Given the description of an element on the screen output the (x, y) to click on. 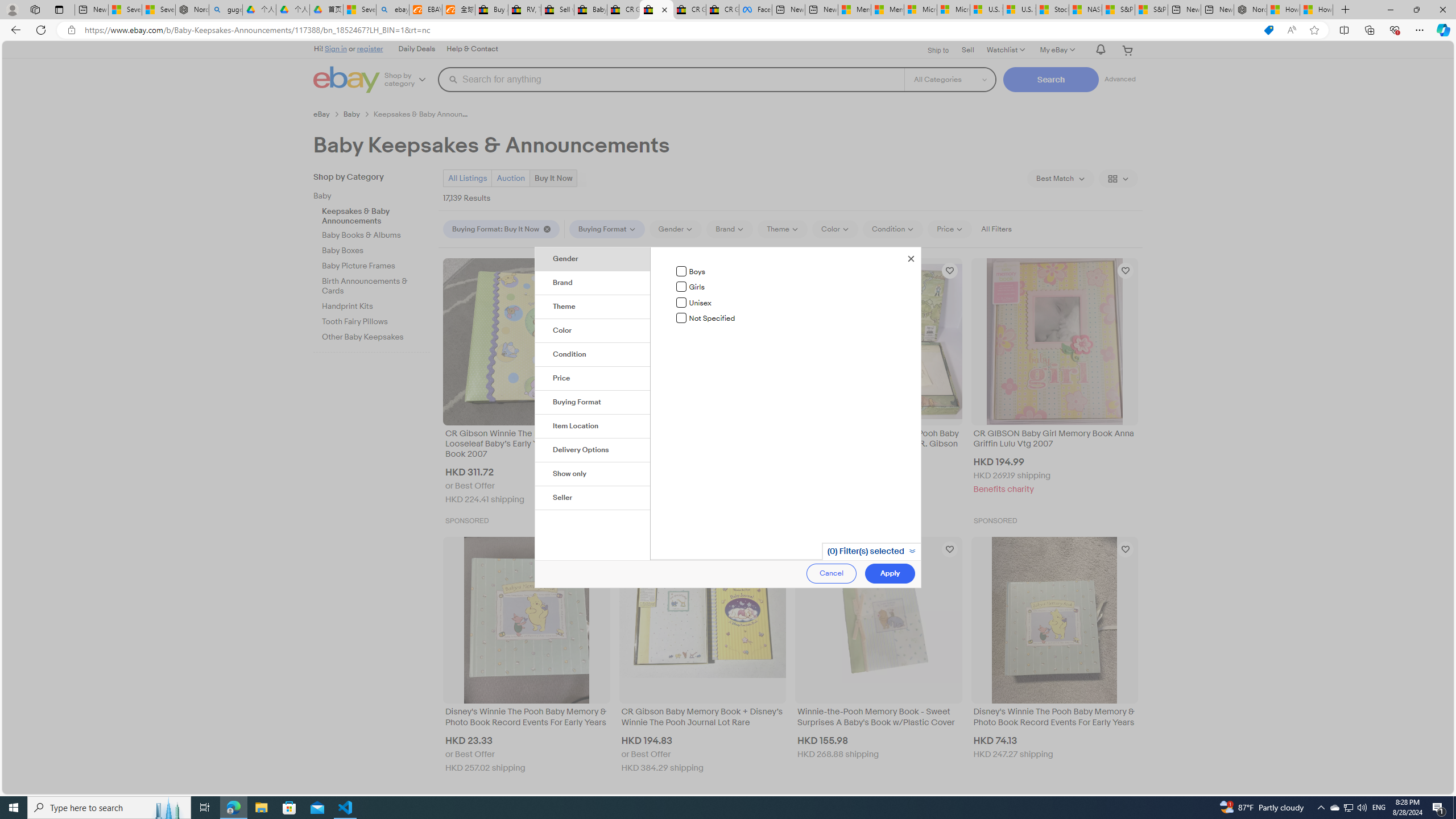
Girls (681, 286)
Cancel (831, 573)
This site has coupons! Shopping in Microsoft Edge (1268, 29)
Add this page to favorites (Ctrl+D) (1314, 29)
Close (911, 257)
Baby Keepsakes & Announcements for sale | eBay (656, 9)
Buying Format (592, 402)
Read aloud this page (Ctrl+Shift+U) (1291, 29)
Address and search bar (669, 29)
Delivery Options (592, 450)
Close tab (664, 9)
